Given the description of an element on the screen output the (x, y) to click on. 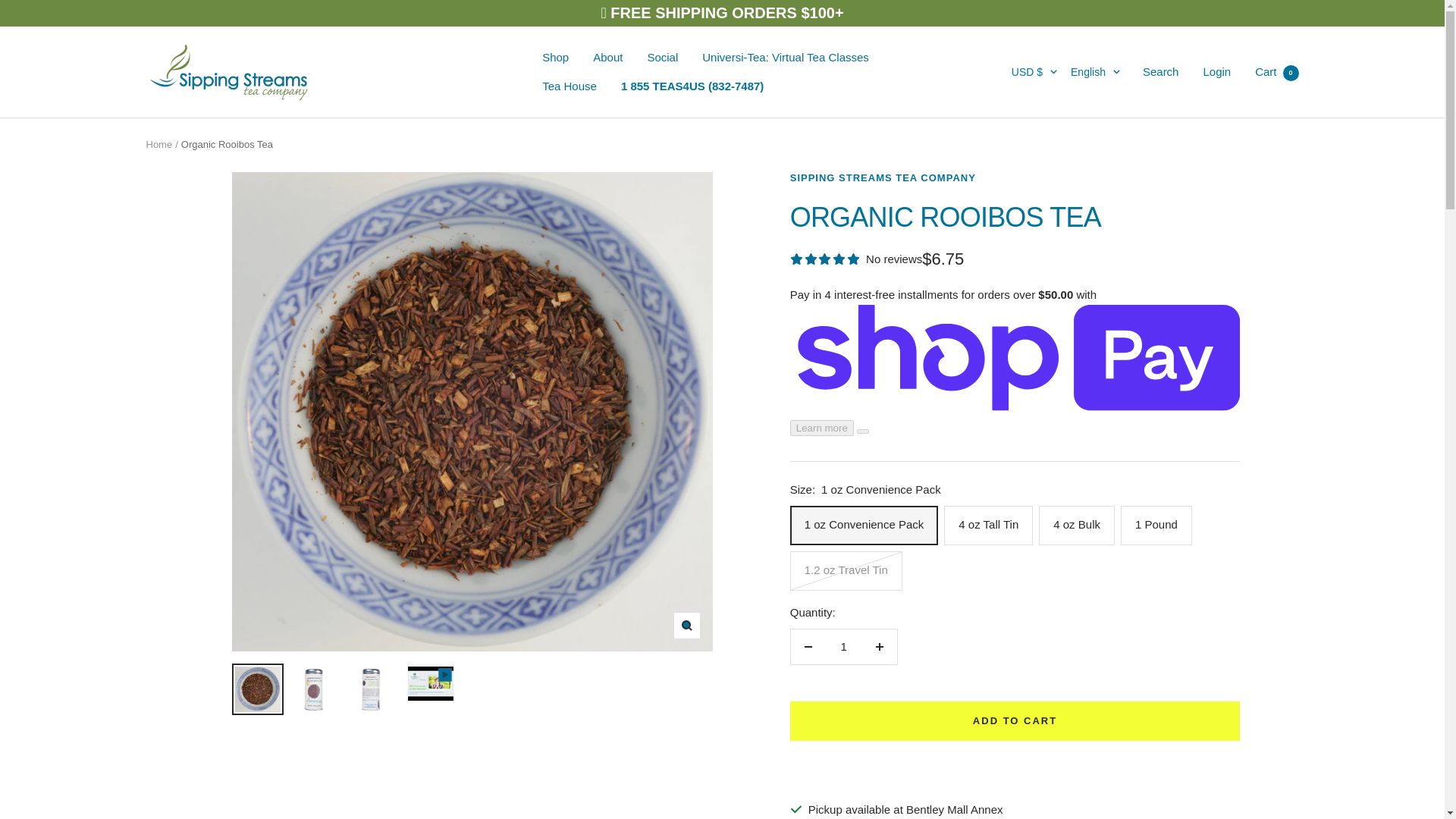
BSD (1017, 498)
BWP (1017, 523)
Universi-Tea: Virtual Tea Classes (785, 57)
CAD (1017, 573)
BGN (1017, 398)
DJF (1017, 749)
Tea House (568, 86)
BND (1017, 448)
CDF (1017, 598)
AUD (1017, 249)
DKK (1017, 773)
AWG (1017, 274)
